Given the description of an element on the screen output the (x, y) to click on. 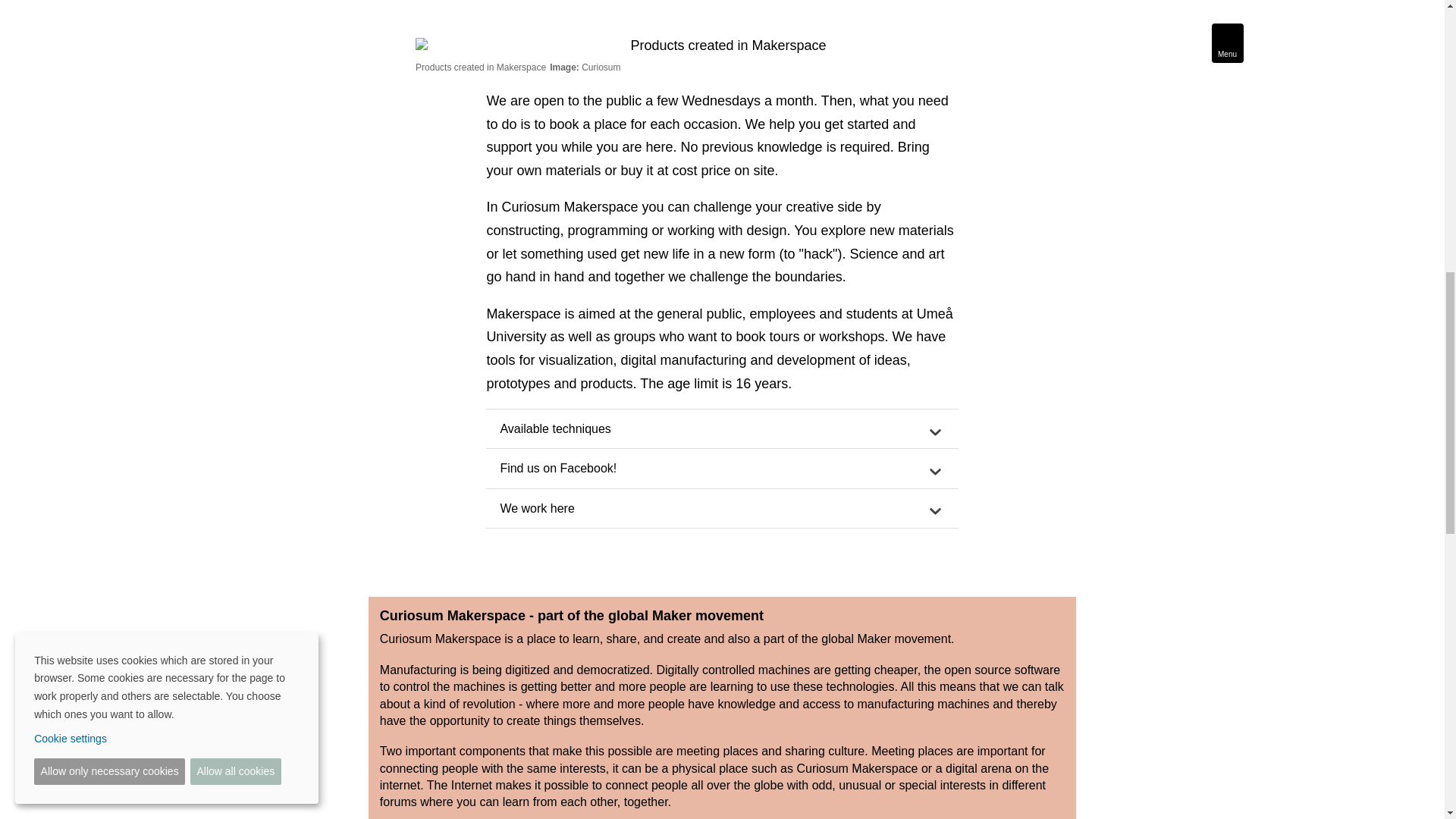
Find us on Facebook! (722, 468)
Available techniques (722, 428)
We work here (722, 508)
